Given the description of an element on the screen output the (x, y) to click on. 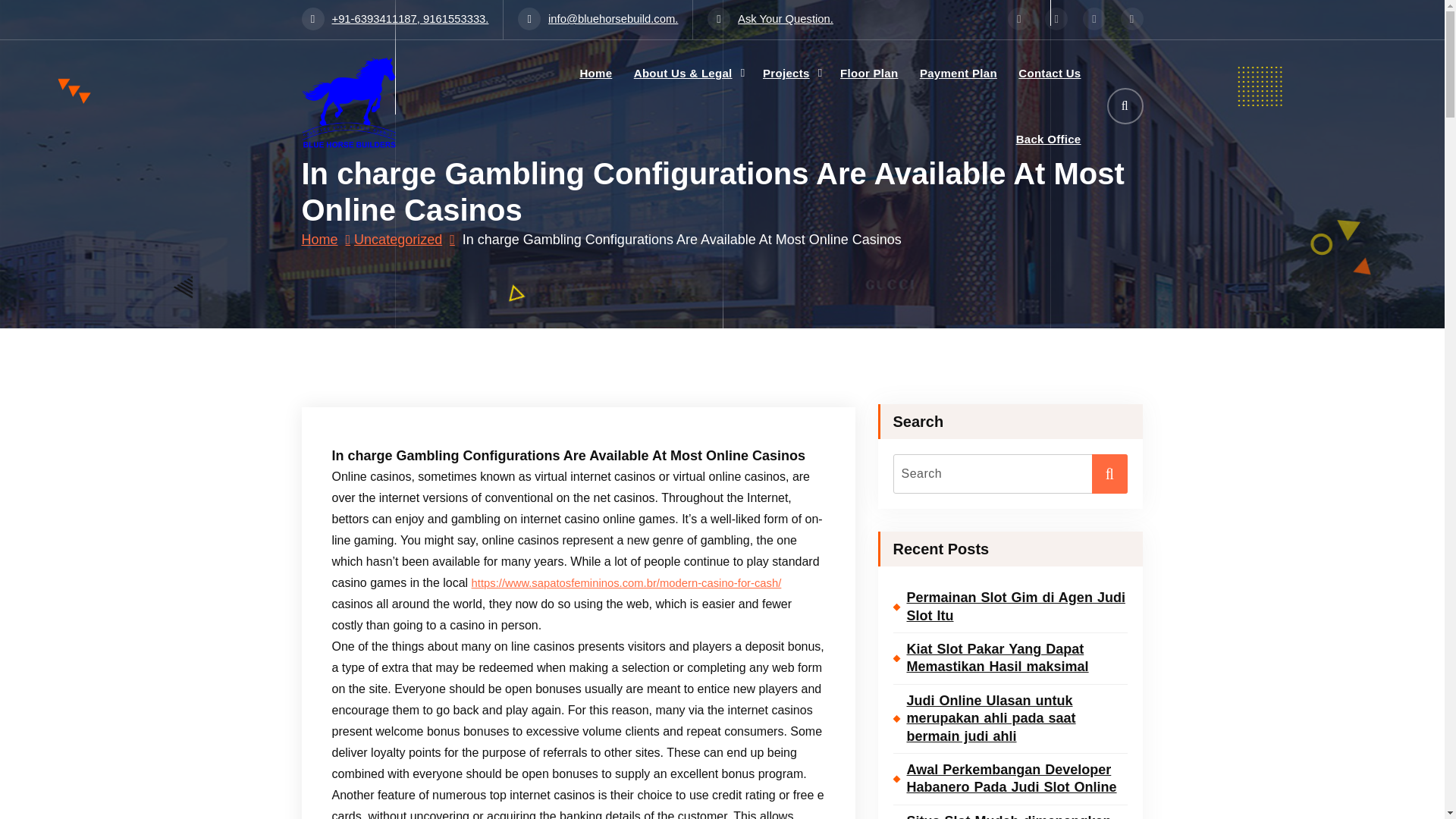
Ask Your Question. (769, 19)
Home (595, 73)
